Given the description of an element on the screen output the (x, y) to click on. 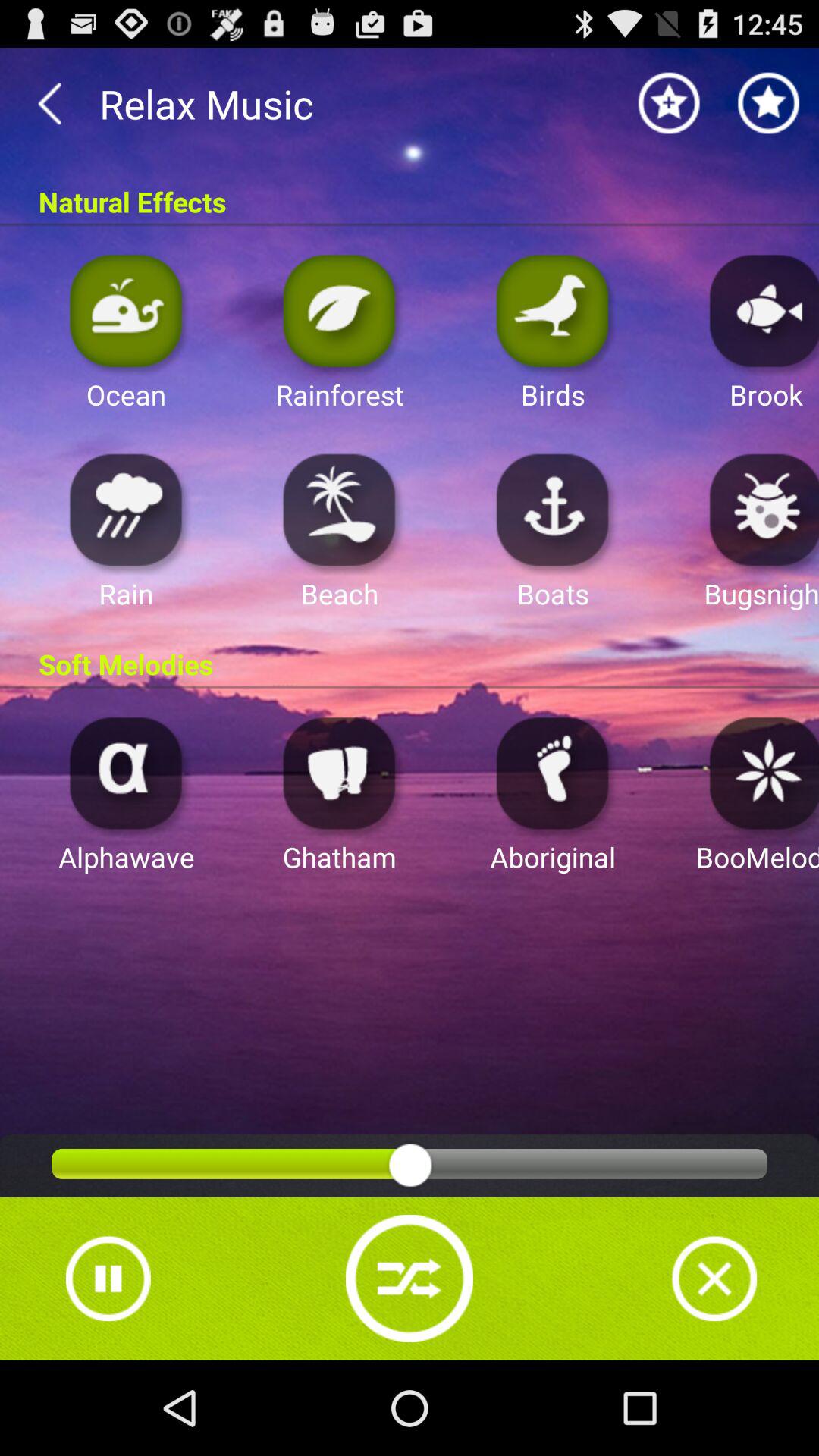
play alphawave melody (126, 772)
